Given the description of an element on the screen output the (x, y) to click on. 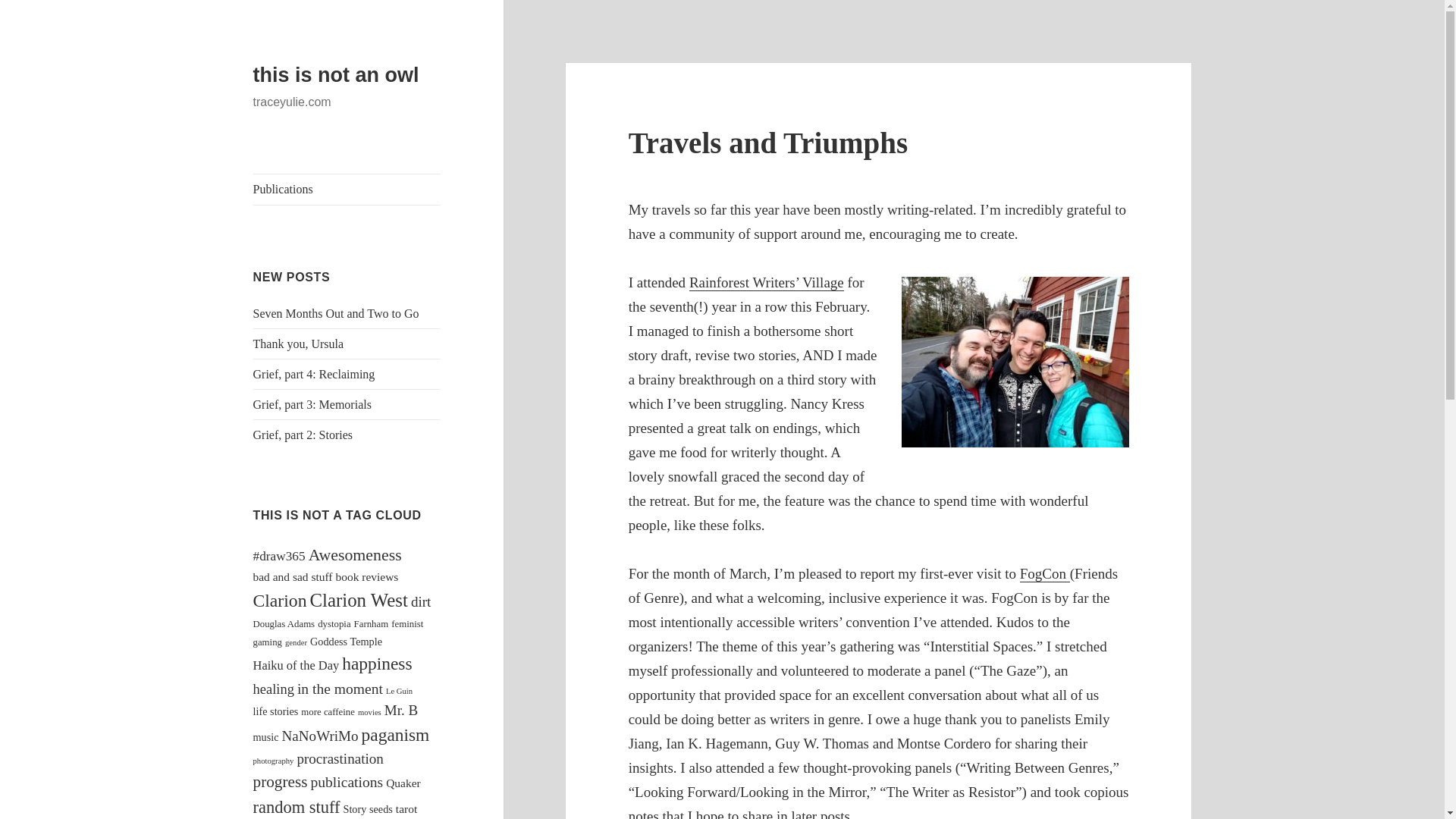
Clarion (280, 600)
paganism (395, 734)
gender (296, 642)
Le Guin (398, 691)
Grief, part 4: Reclaiming (314, 373)
Thank you, Ursula (298, 343)
healing (273, 688)
Grief, part 2: Stories (303, 434)
Haiku of the Day (296, 665)
Farnham (370, 624)
Douglas Adams (284, 624)
progress (280, 782)
music (266, 736)
life stories (275, 711)
bad and sad stuff (293, 576)
